Given the description of an element on the screen output the (x, y) to click on. 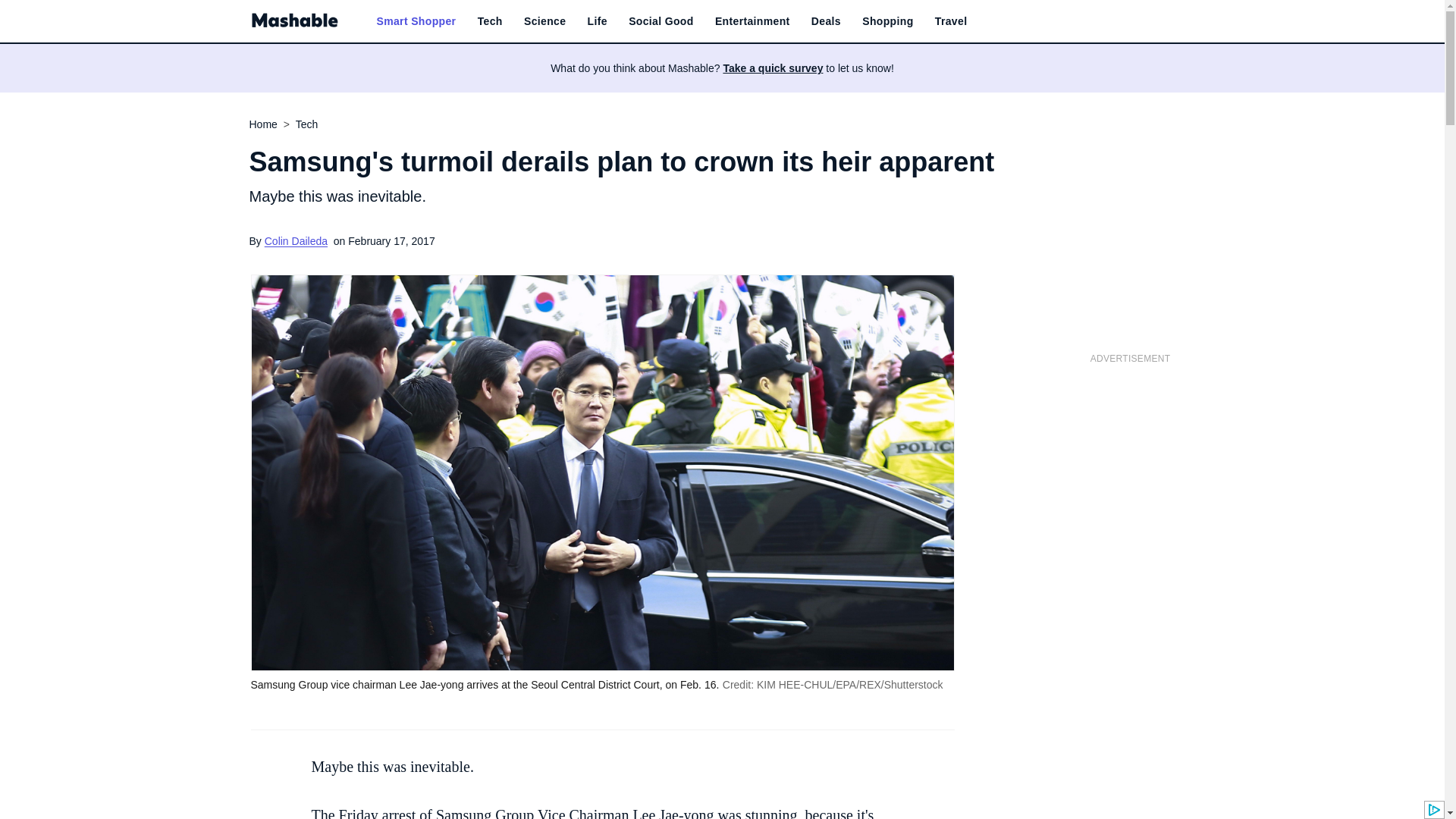
Life (597, 21)
Science (545, 21)
Deals (825, 21)
Smart Shopper (415, 21)
Social Good (661, 21)
Travel (951, 21)
Entertainment (752, 21)
Shopping (886, 21)
Tech (489, 21)
